Given the description of an element on the screen output the (x, y) to click on. 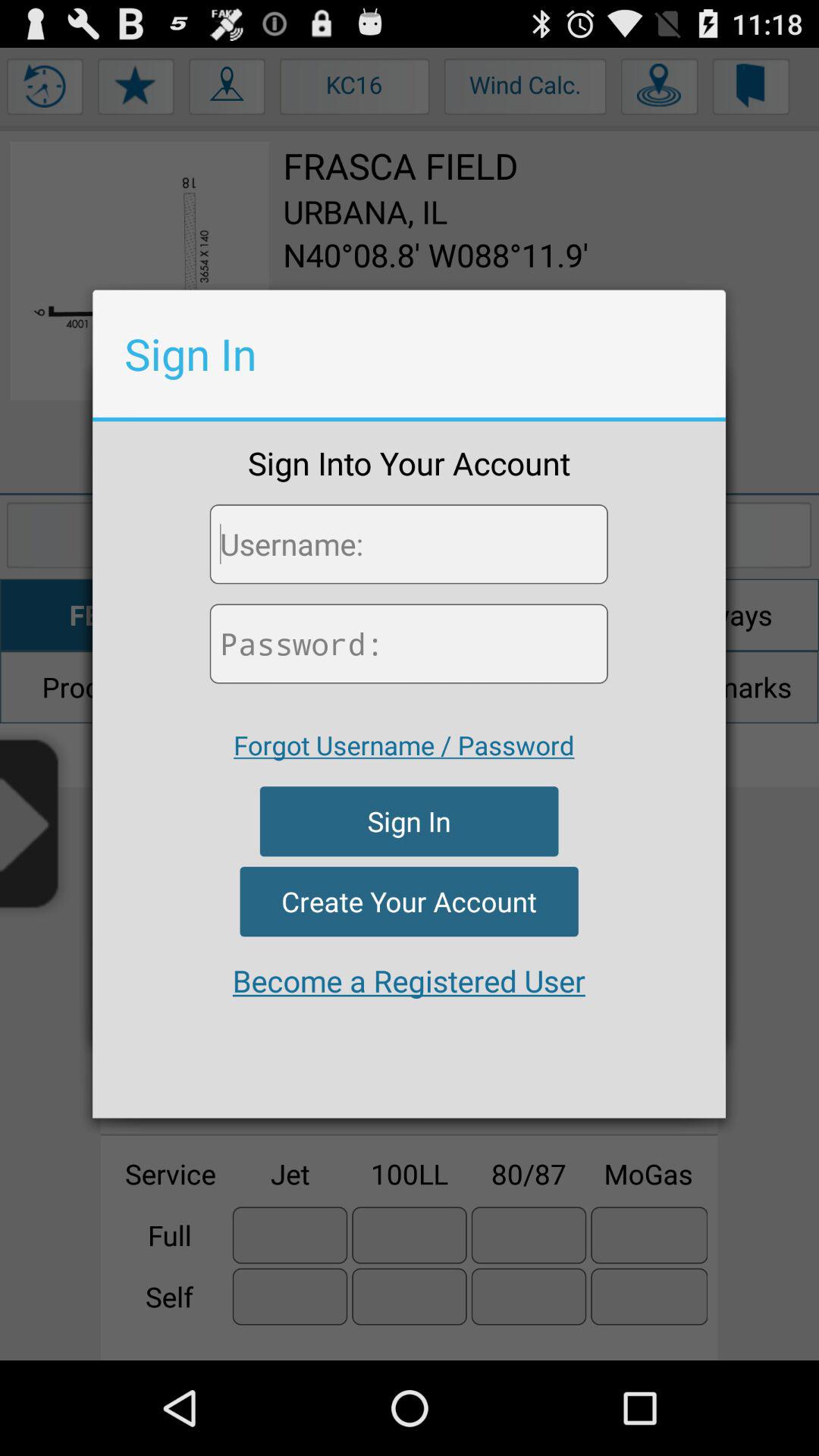
press item below the create your account item (408, 980)
